Given the description of an element on the screen output the (x, y) to click on. 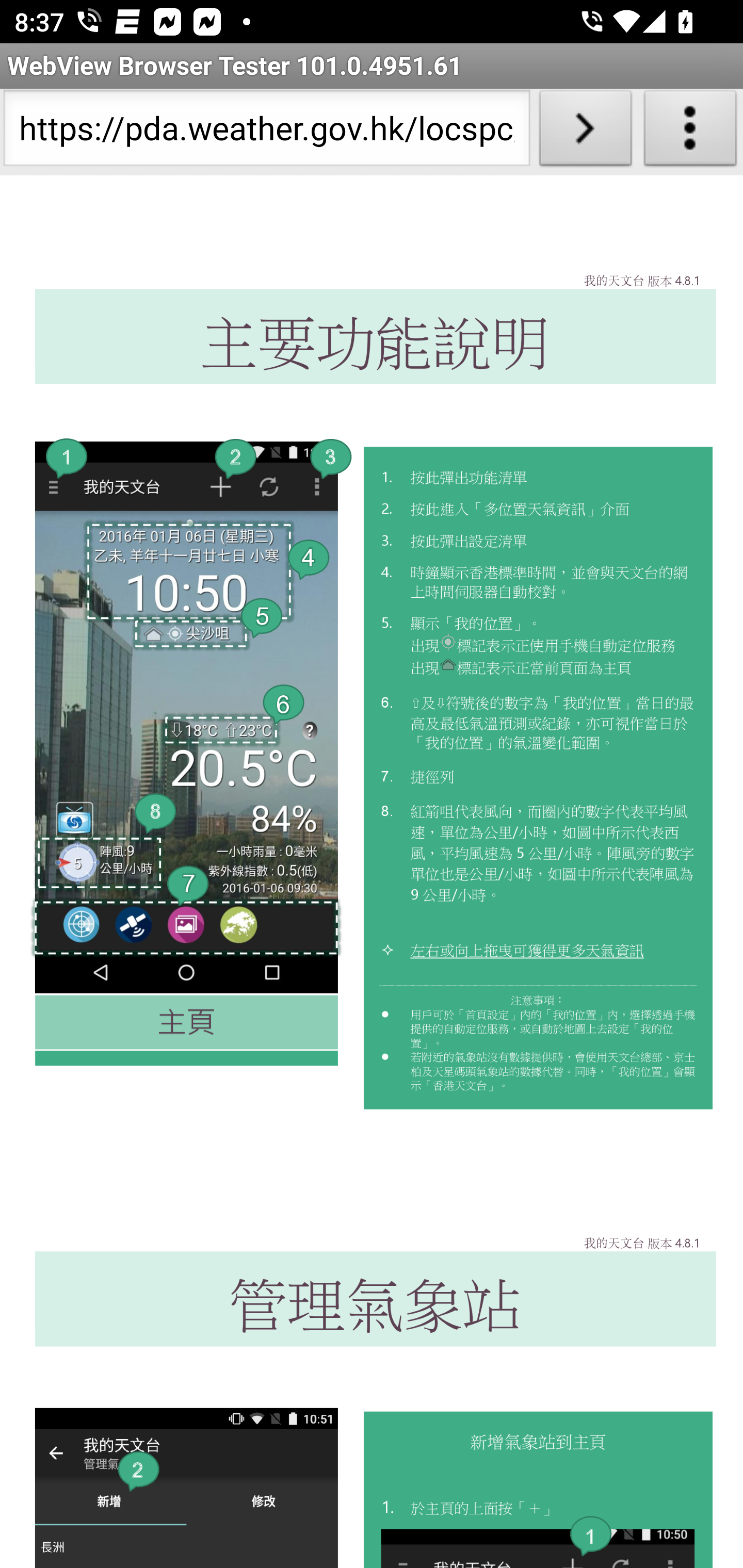
Load URL (585, 132)
About WebView (690, 132)
